Given the description of an element on the screen output the (x, y) to click on. 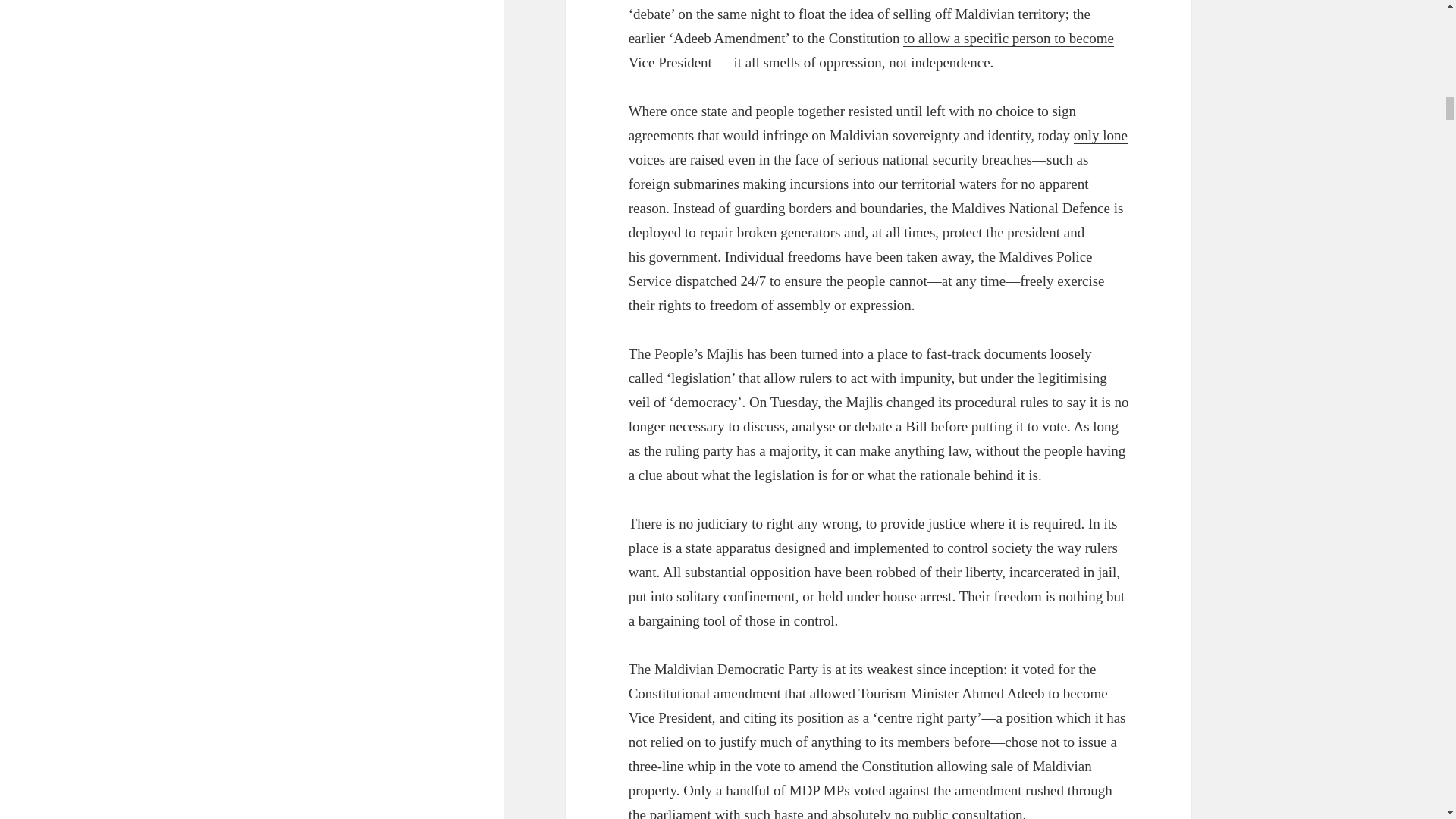
to allow a specific person to become Vice President (870, 50)
a handful (744, 790)
